Given the description of an element on the screen output the (x, y) to click on. 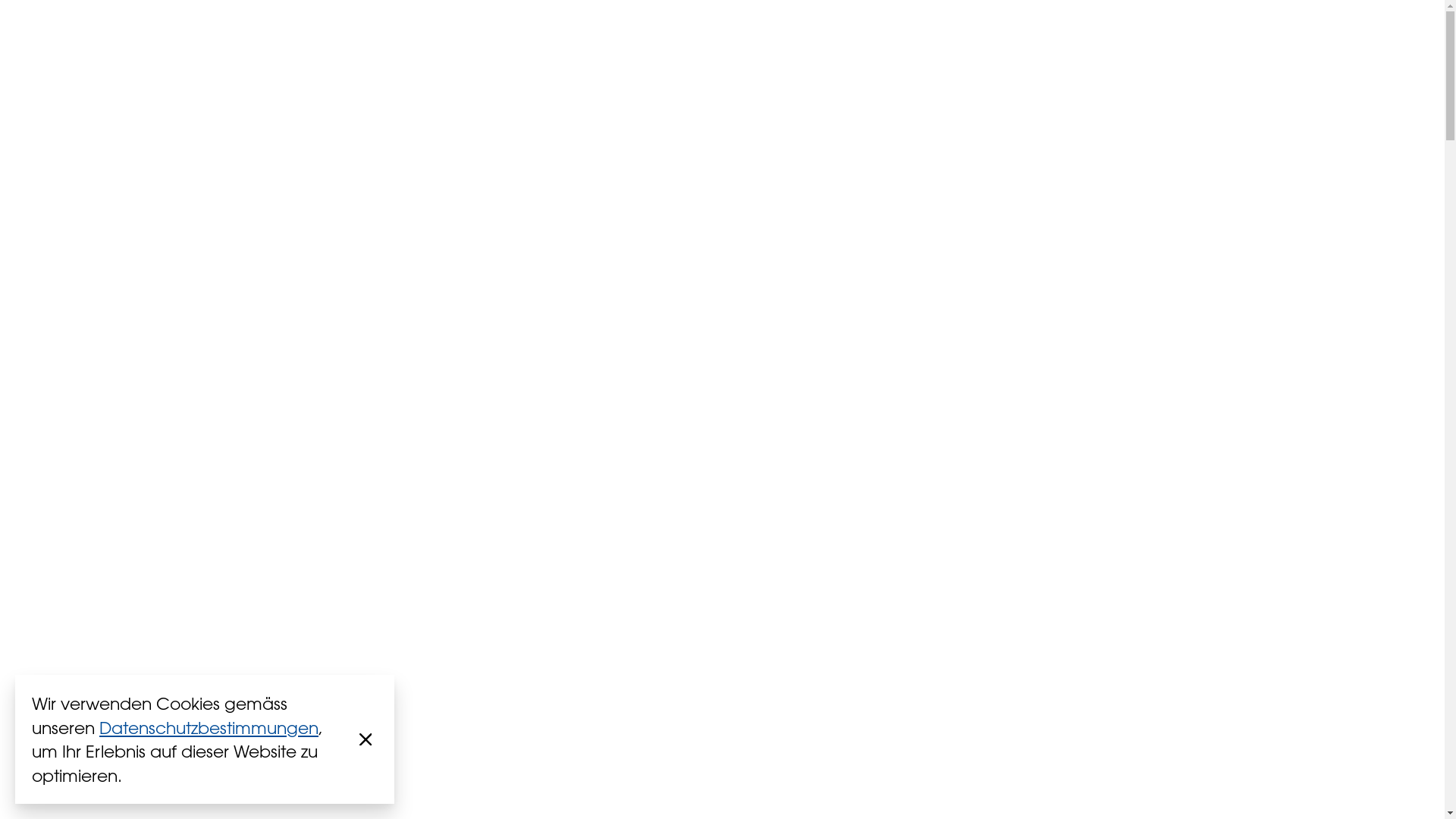
News Element type: text (1261, 61)
Kontakt Element type: text (1197, 61)
Menu Element type: text (1373, 61)
DE Element type: text (1102, 61)
Datenschutzbestimmungen Element type: text (208, 727)
Schliessen Element type: text (365, 738)
EN Element type: text (1134, 61)
